Given the description of an element on the screen output the (x, y) to click on. 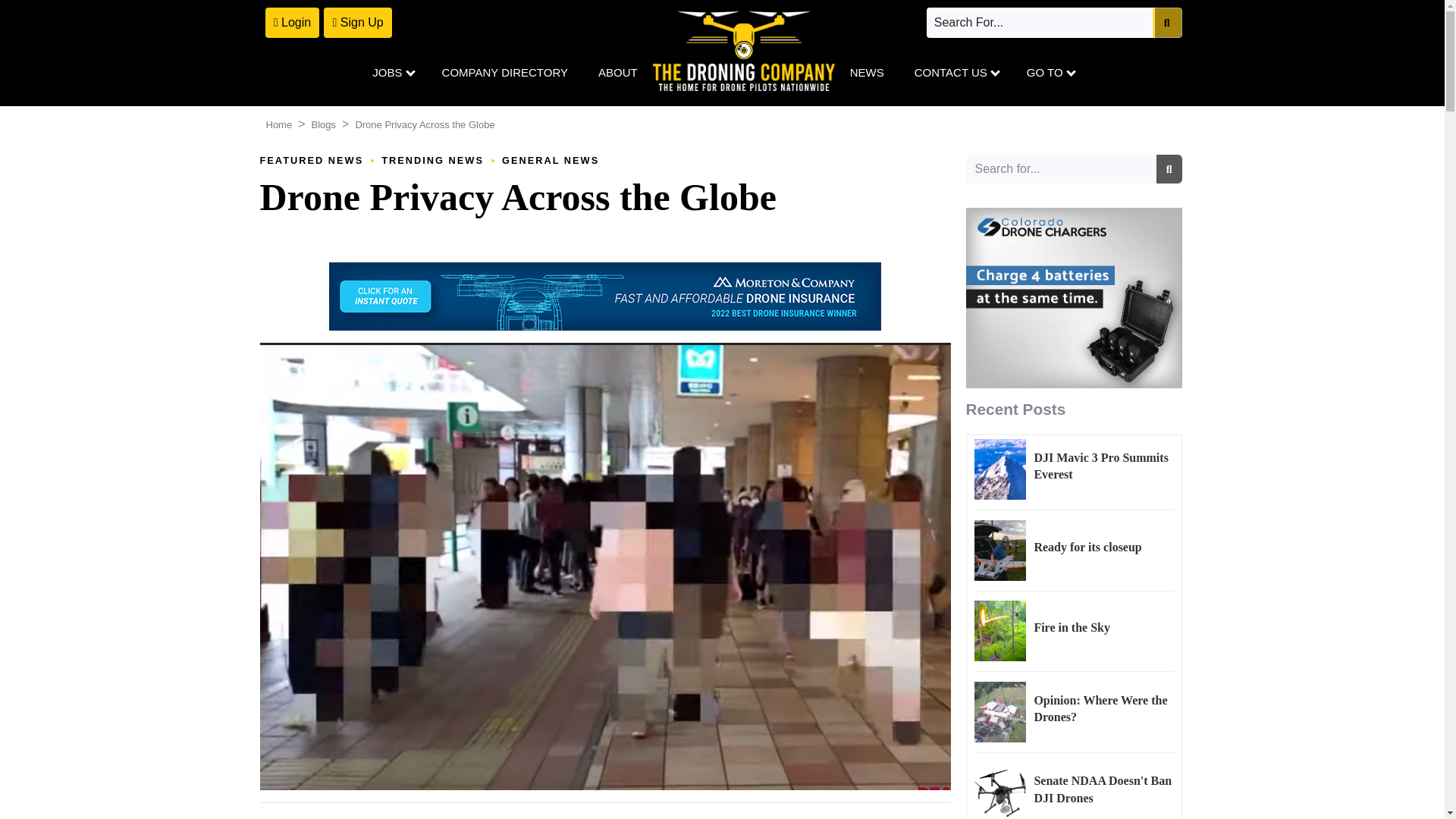
The Droning Company (743, 50)
JOBS (399, 72)
CONTACT US (955, 72)
NEWS (866, 72)
Login (292, 22)
COMPANY DIRECTORY (504, 72)
GO TO (1041, 72)
Sign Up (357, 22)
Drone Privacy Across the Globe (517, 197)
ABOUT (617, 72)
